Given the description of an element on the screen output the (x, y) to click on. 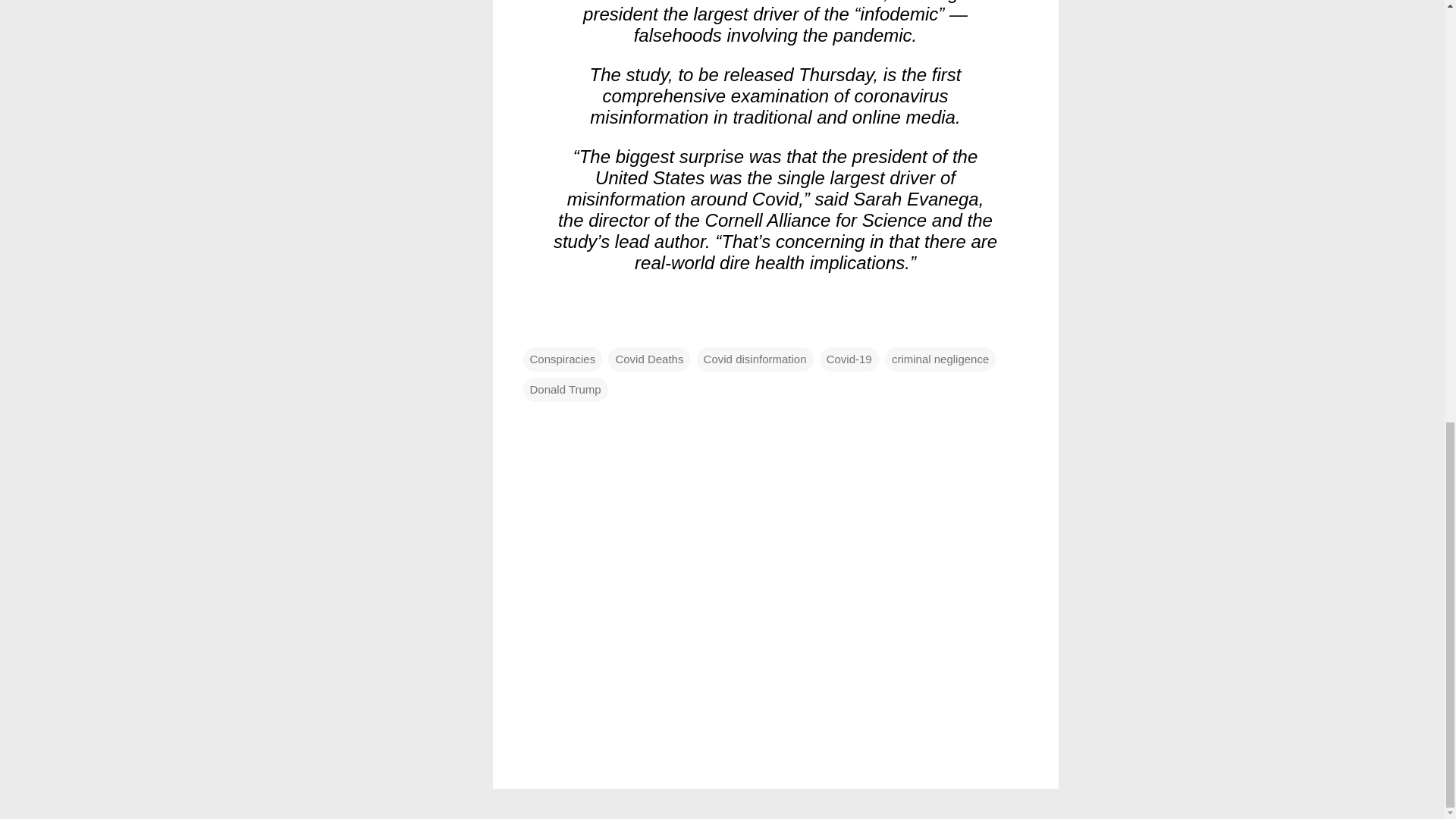
criminal negligence (940, 358)
Covid Deaths (649, 358)
Conspiracies (562, 358)
Covid-19 (849, 358)
Covid disinformation (755, 358)
Donald Trump (565, 388)
